Given the description of an element on the screen output the (x, y) to click on. 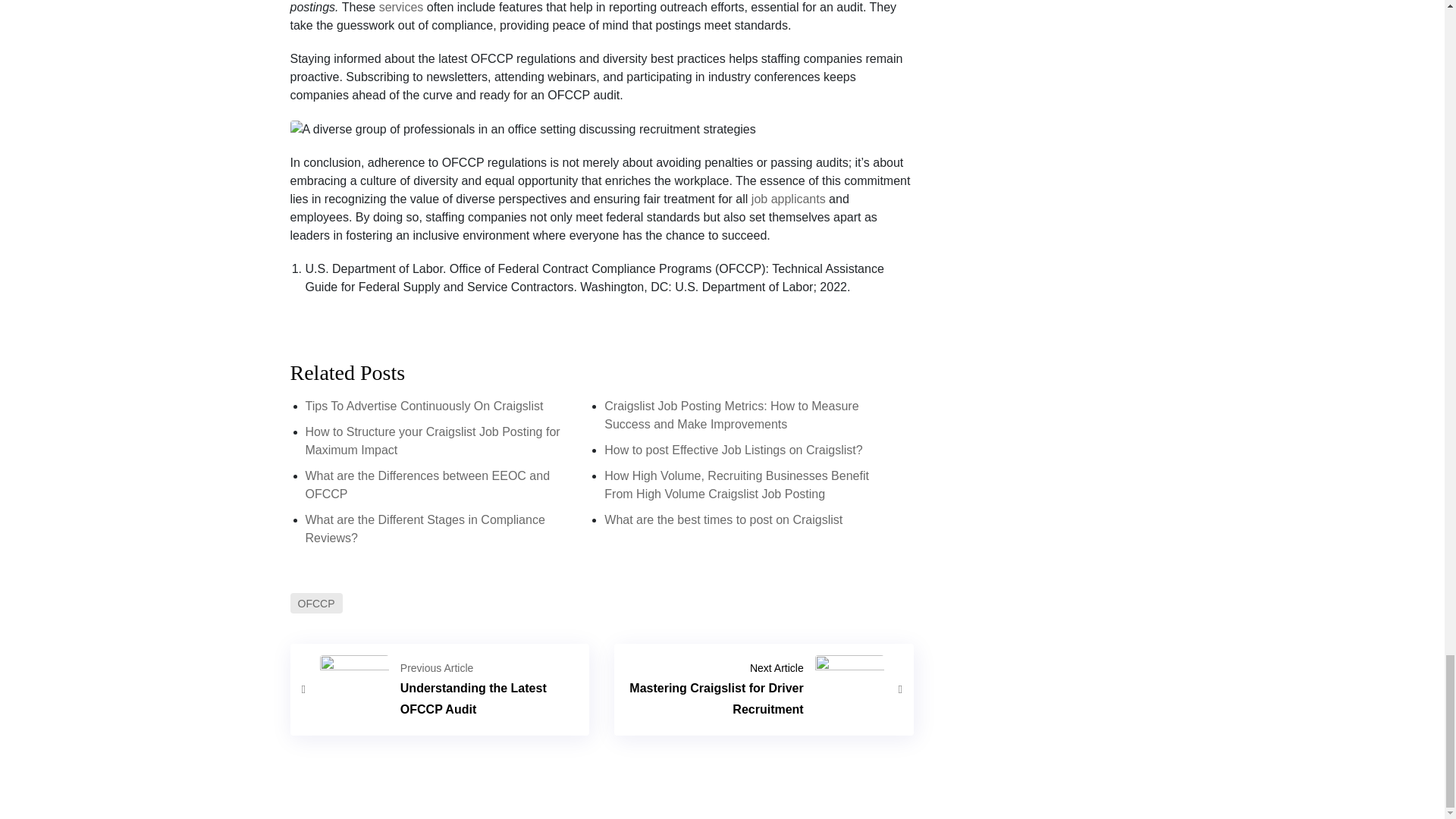
Mastering Craigslist for Driver Recruitment (764, 689)
services (400, 8)
Understanding the Latest OFCCP Audit List (439, 689)
